Given the description of an element on the screen output the (x, y) to click on. 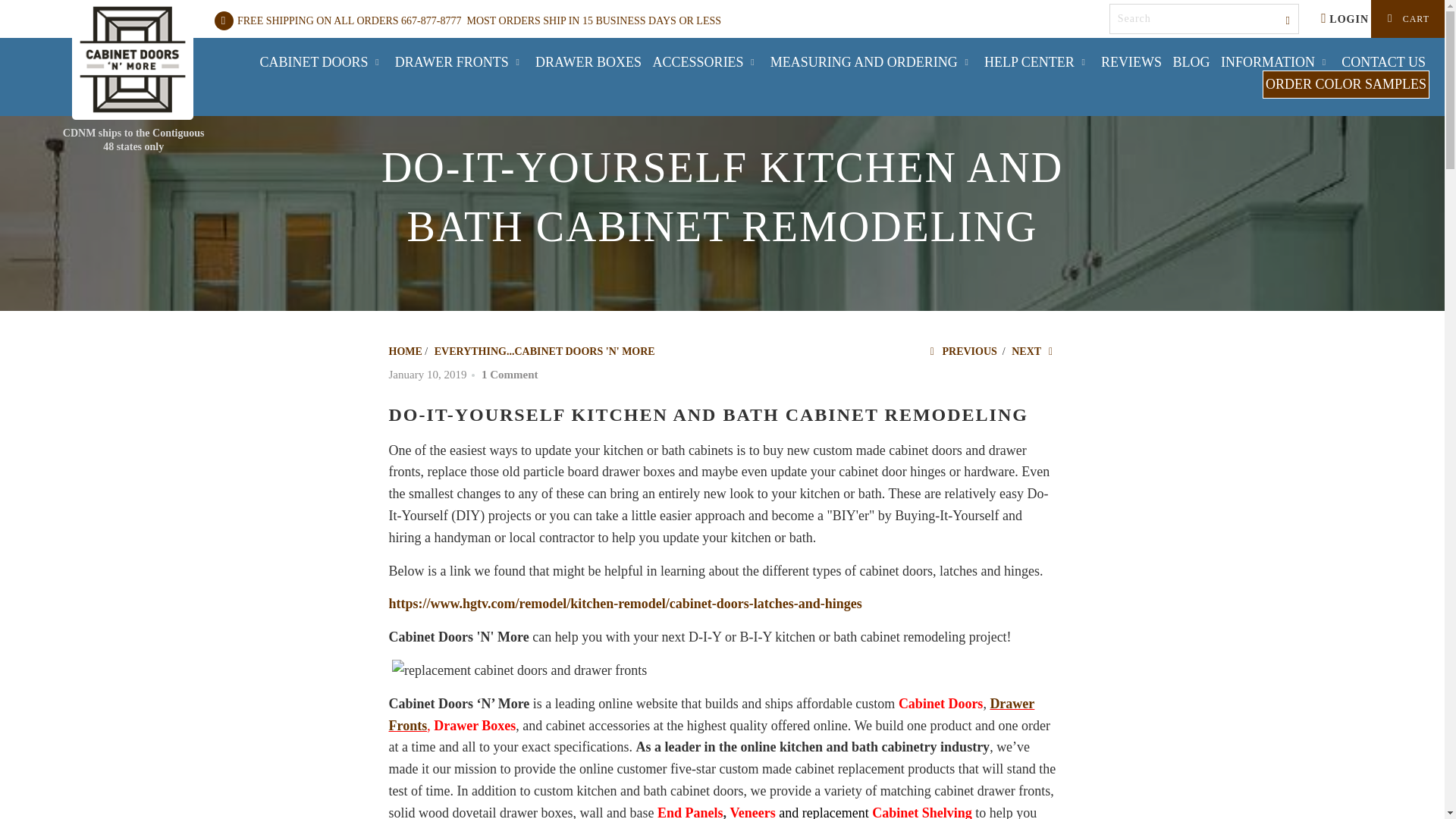
Cabinet Doors 'N' More (405, 351)
Cabinet Doors 'N' More (132, 59)
Everything...Cabinet Doors 'N' More (544, 351)
Cabinet Doors, Latches and Hinges (624, 603)
